Given the description of an element on the screen output the (x, y) to click on. 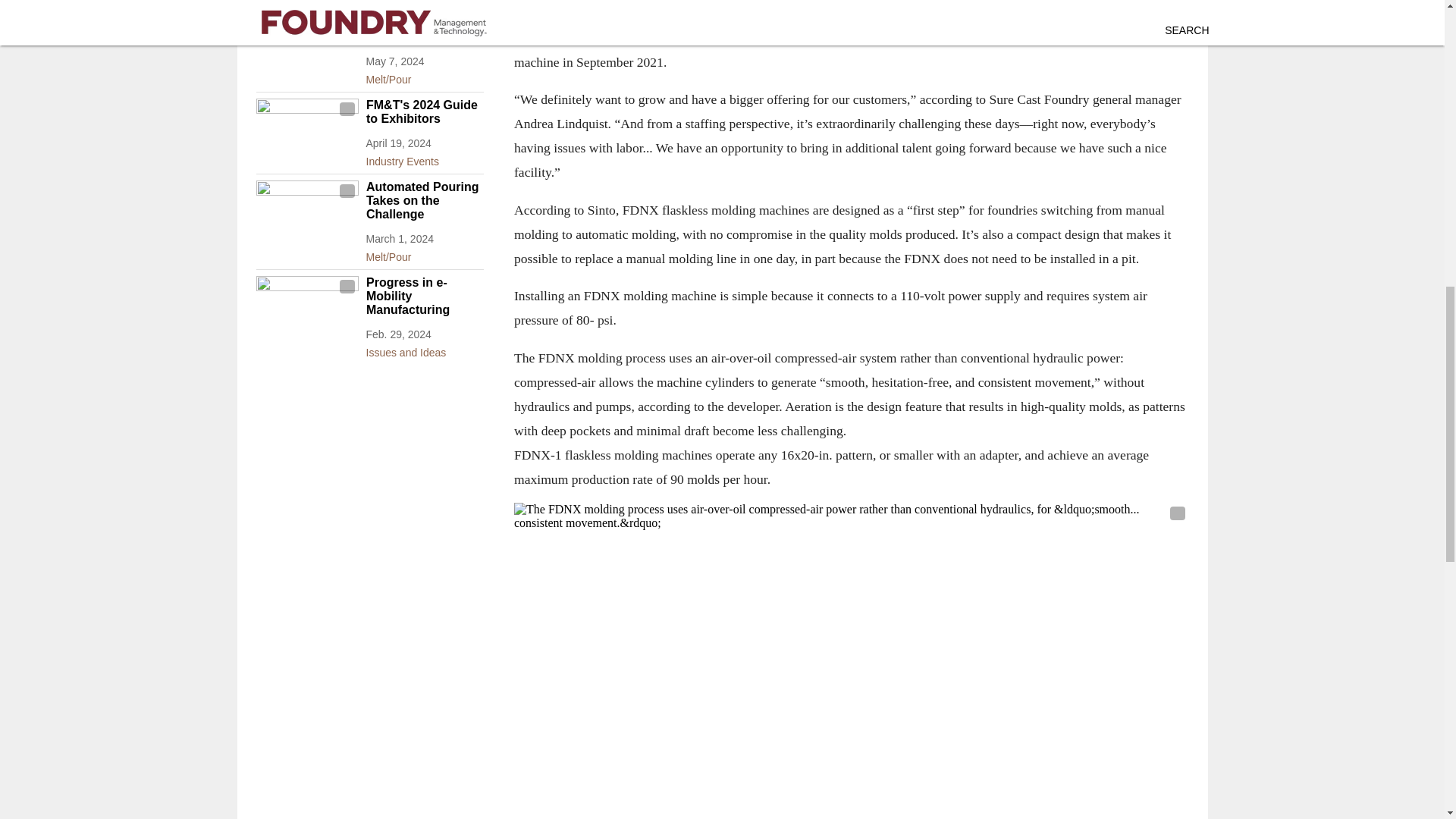
Industry Events (424, 158)
Issues and Ideas (424, 349)
Automated Pouring Takes on the Challenge (424, 200)
Progress in e-Mobility Manufacturing (424, 296)
